Given the description of an element on the screen output the (x, y) to click on. 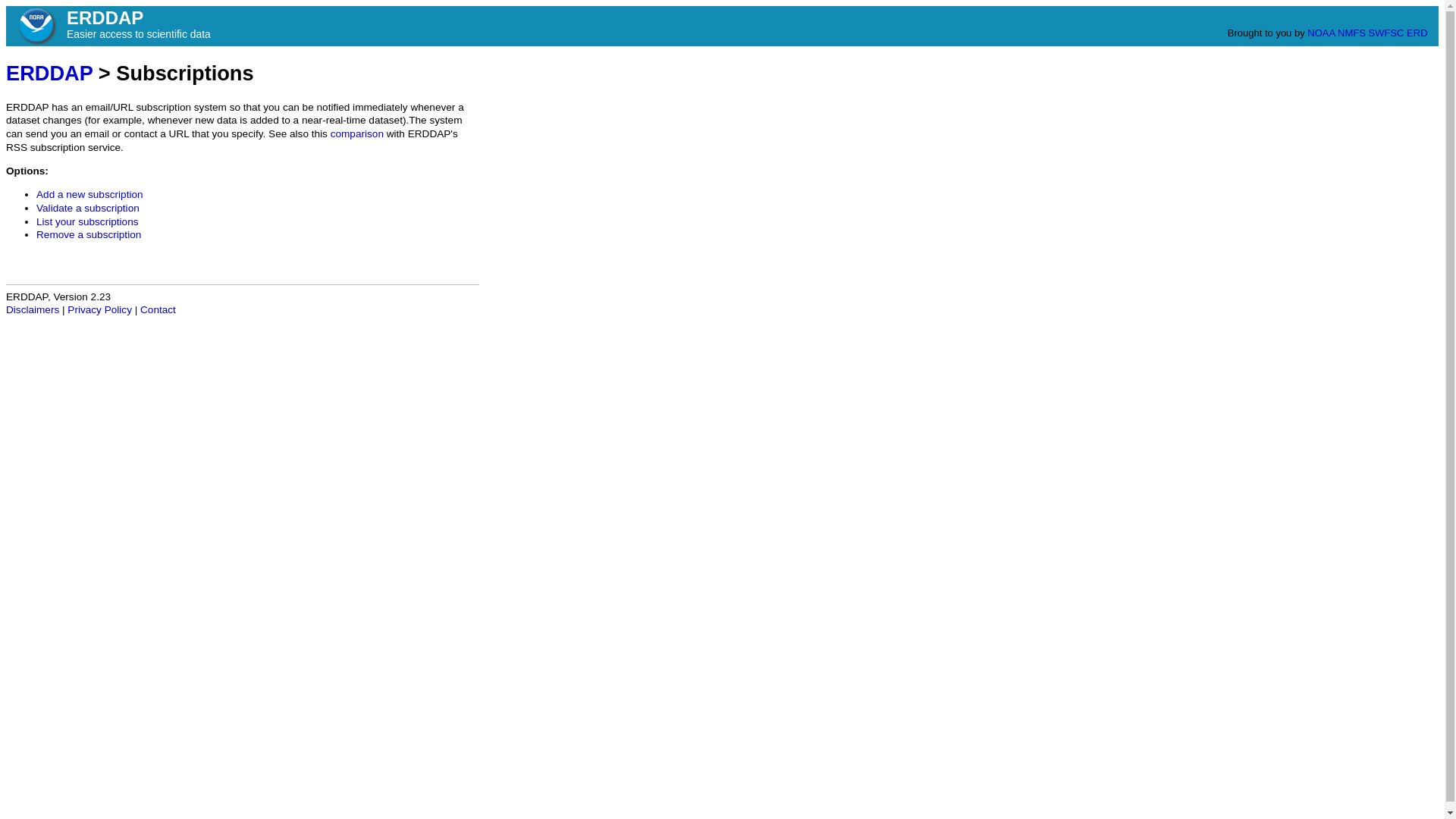
National Oceanic and Atmospheric Administration (1321, 32)
National Oceanic and Atmospheric Administration (36, 25)
Click here to return to the ERDDAP home page. (49, 73)
National Marine Fisheries Service (1351, 32)
Disclaimers (32, 309)
SWFSC (1386, 32)
Southwest Fisheries Science Center (1386, 32)
NOAA (1321, 32)
ERDDAP (49, 73)
Environmental Research Division (1416, 32)
Validate a subscription (87, 207)
ERD (1416, 32)
Remove a subscription (88, 234)
Privacy Policy (99, 309)
Contact (157, 309)
